Given the description of an element on the screen output the (x, y) to click on. 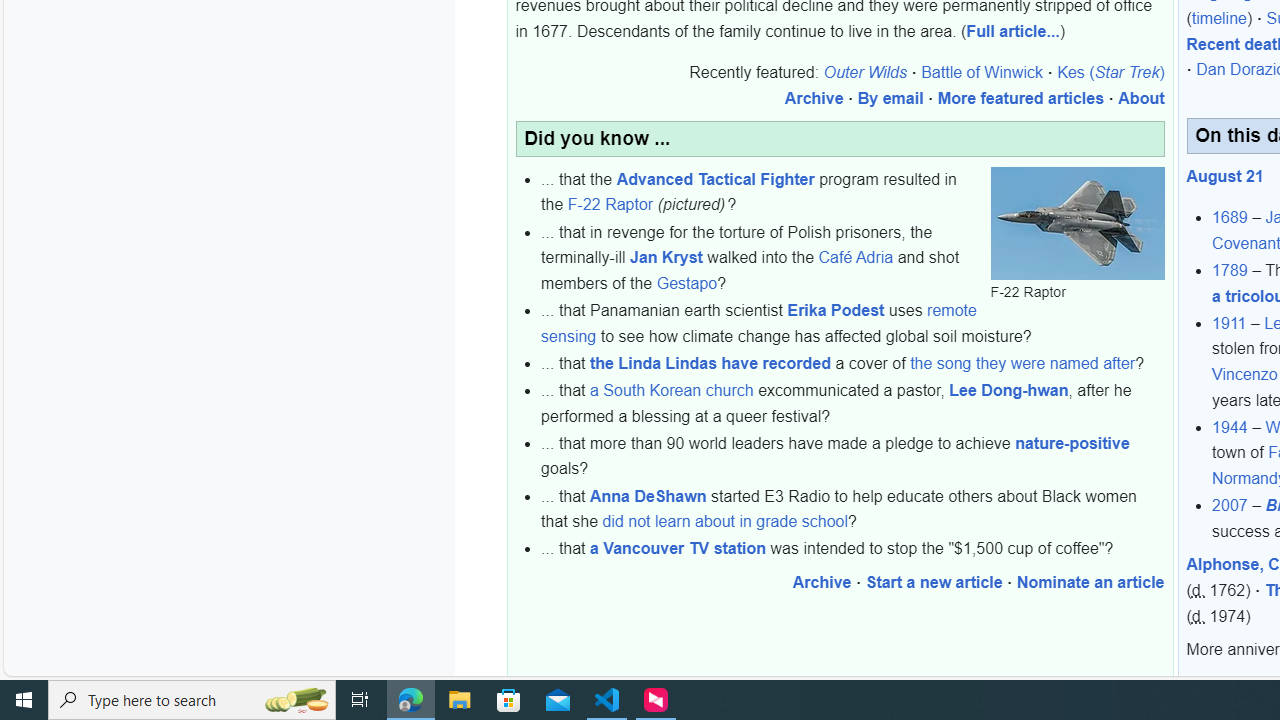
the song they were named after (1023, 363)
timeline (1218, 19)
Advanced Tactical Fighter (715, 178)
1689 (1230, 217)
